Given the description of an element on the screen output the (x, y) to click on. 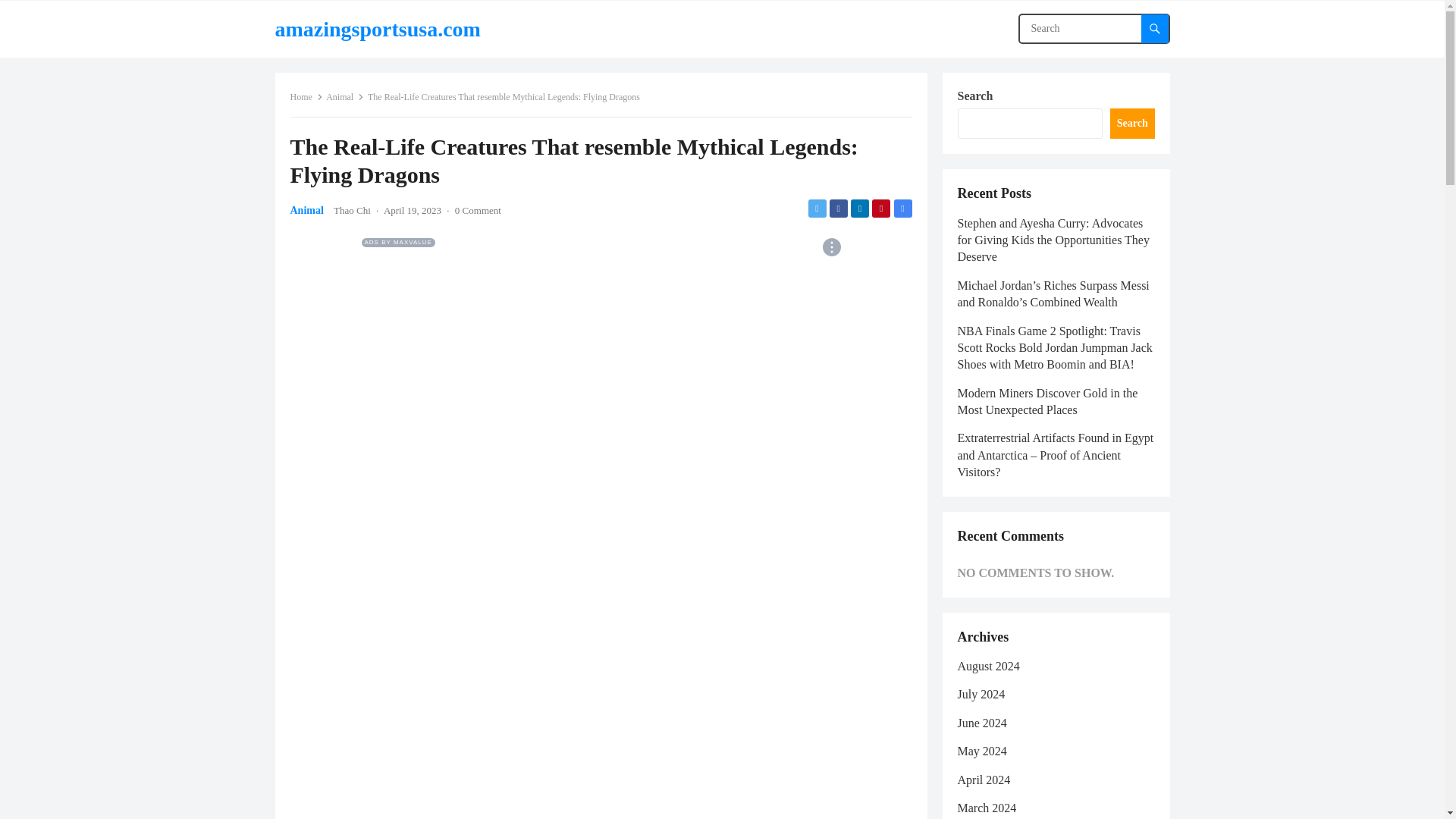
amazingsportsusa.com (377, 28)
Animal (306, 210)
Thao Chi (352, 210)
Posts by Thao Chi (352, 210)
Home (305, 96)
Animal (345, 96)
0 Comment (477, 210)
